Given the description of an element on the screen output the (x, y) to click on. 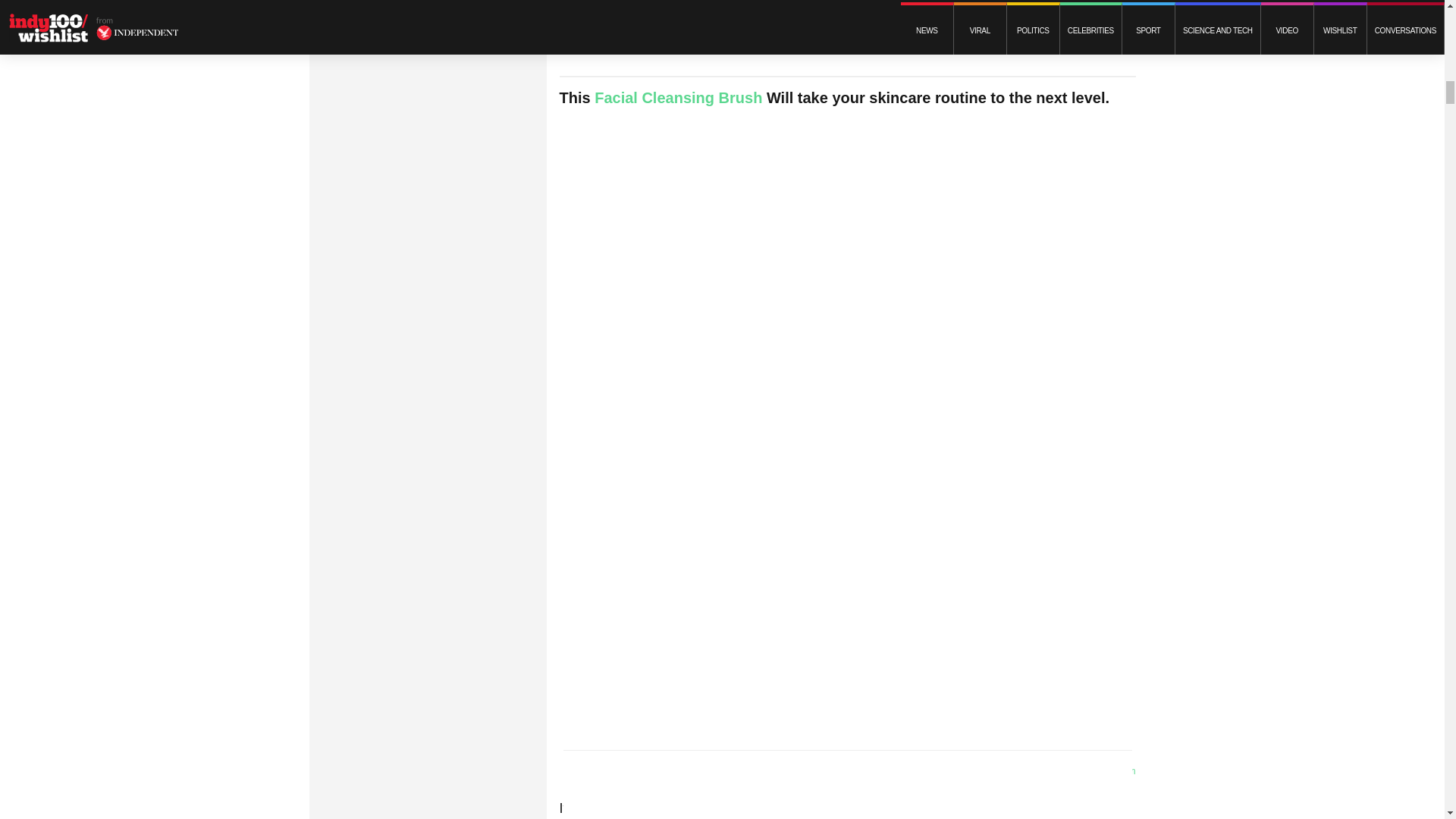
Facial Cleansing Brush (677, 97)
Amazon.com (1108, 770)
